Given the description of an element on the screen output the (x, y) to click on. 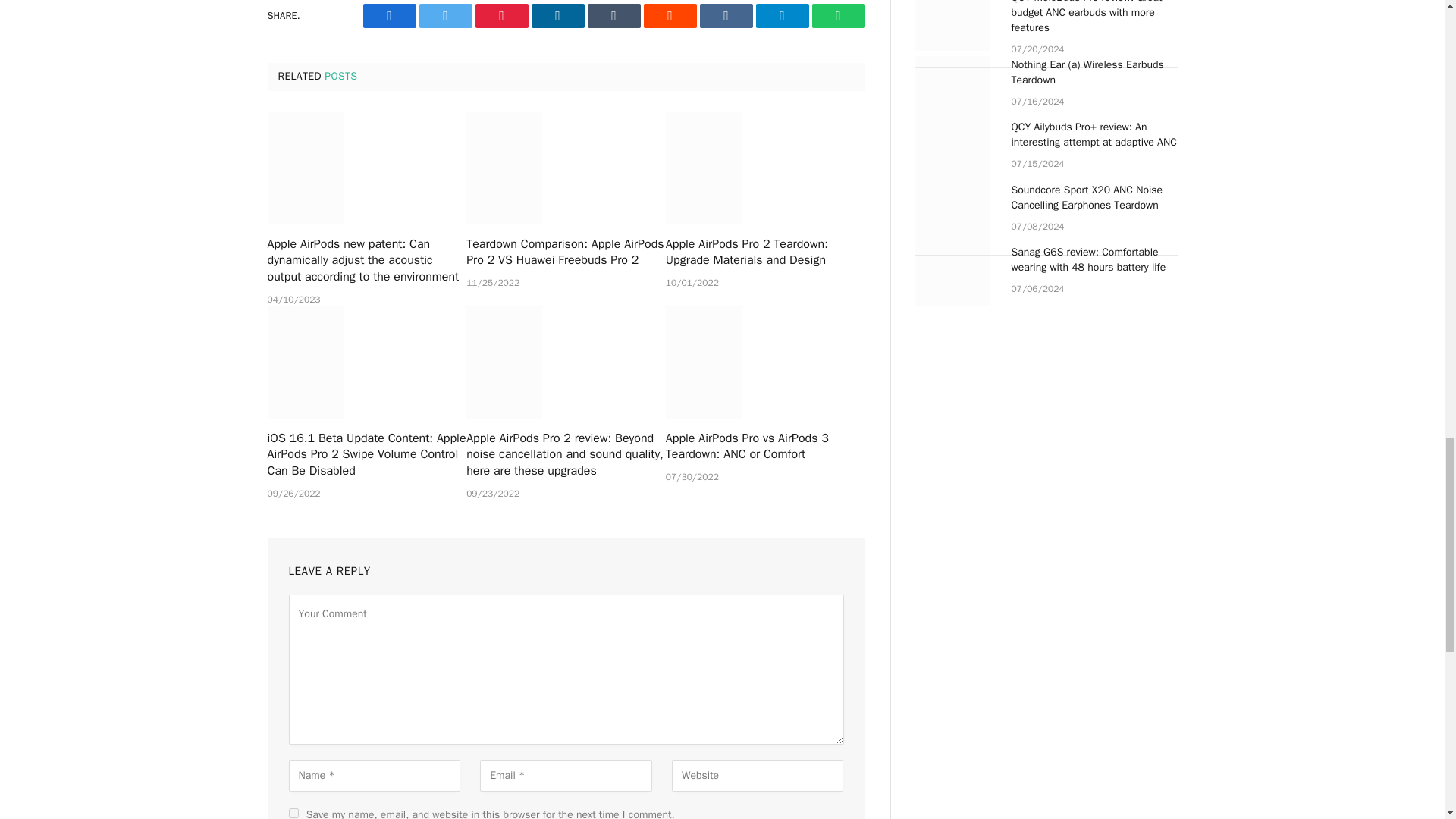
yes (293, 813)
